Given the description of an element on the screen output the (x, y) to click on. 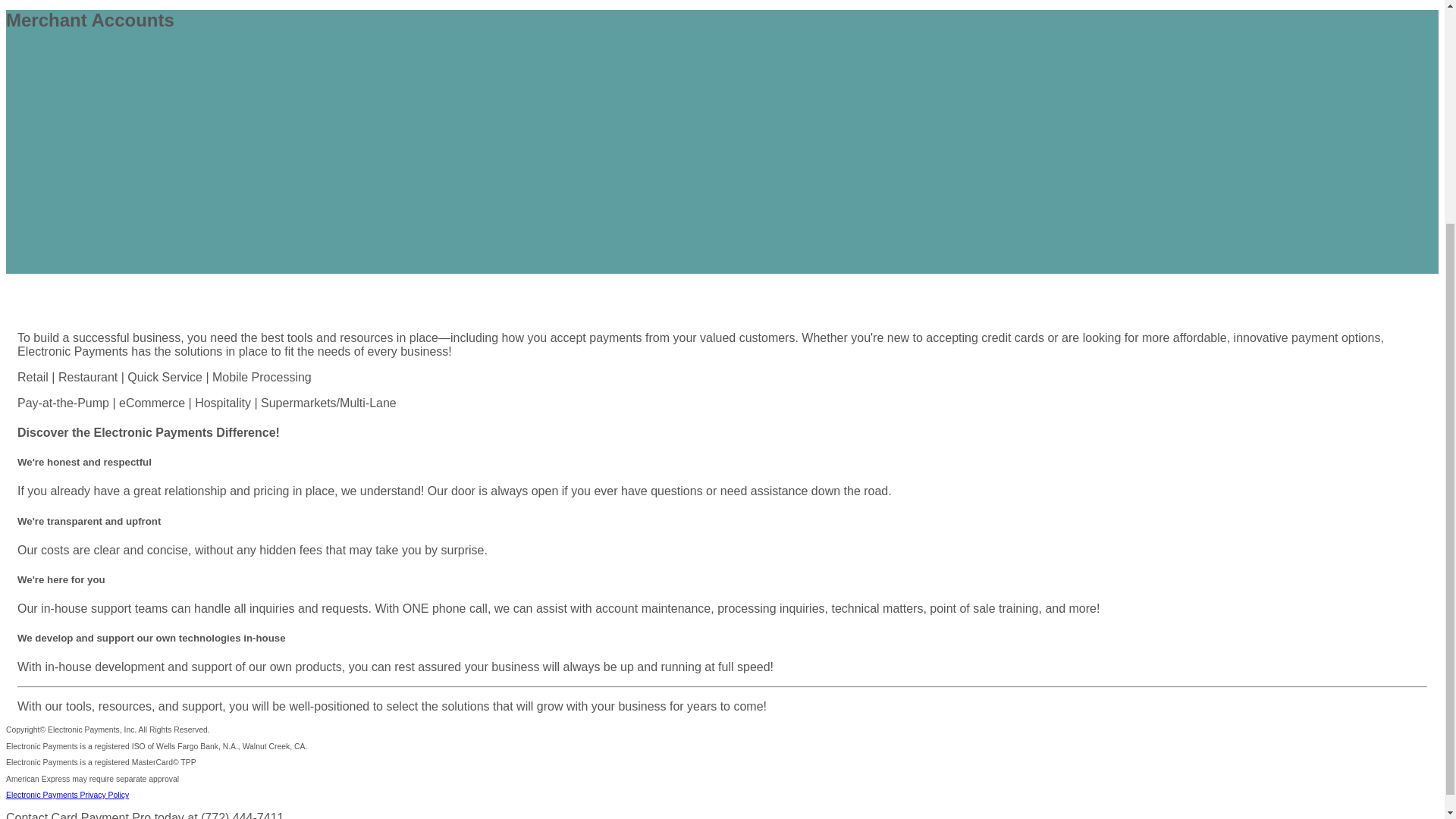
Electronic Payments Privacy Policy (67, 795)
